Given the description of an element on the screen output the (x, y) to click on. 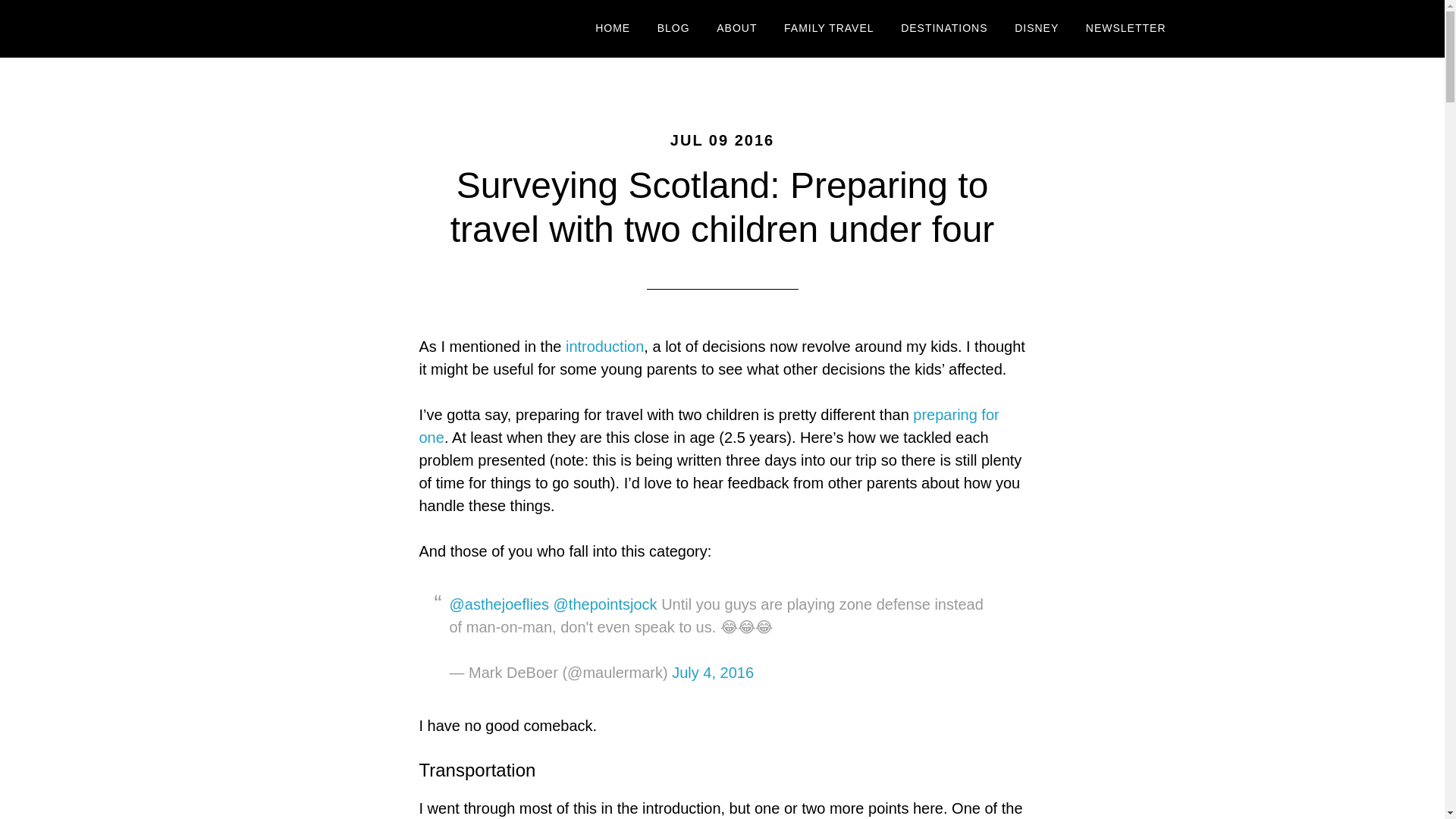
preparing for one (708, 425)
ASTHEJOEFLIES (403, 28)
BLOG (673, 28)
ABOUT (736, 28)
FAMILY TRAVEL (829, 28)
introduction (604, 346)
NEWSLETTER (1125, 28)
HOME (612, 28)
DISNEY (1036, 28)
July 4, 2016 (712, 672)
